Given the description of an element on the screen output the (x, y) to click on. 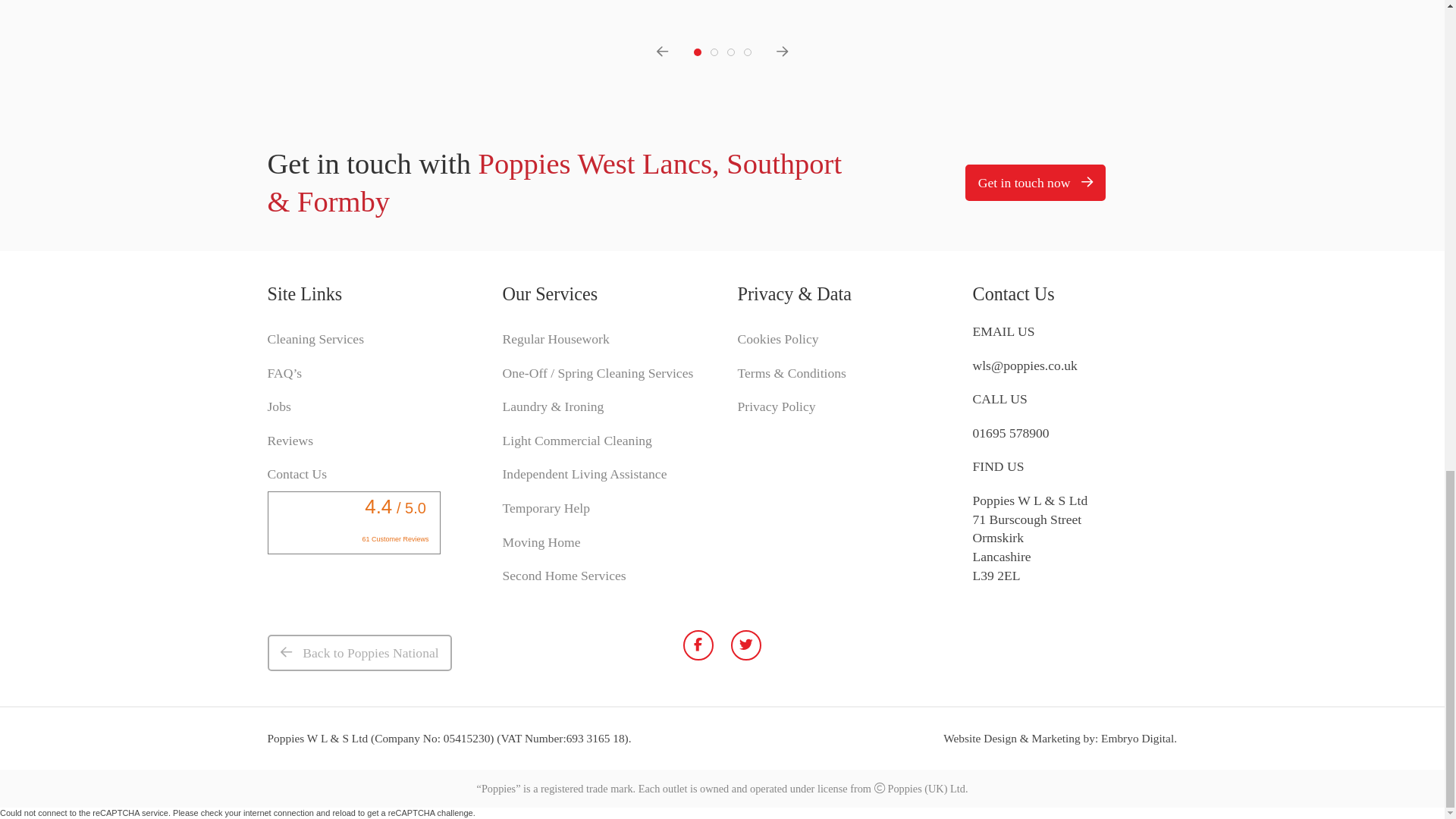
61 Customer Reviews (395, 539)
HTML5 Blank (1136, 738)
Jobs (277, 406)
Regular Housework (555, 339)
Light Commercial Cleaning (576, 440)
Reviews (289, 440)
Get in touch now (1035, 182)
Cleaning Services (315, 339)
Contact Us (296, 474)
